Given the description of an element on the screen output the (x, y) to click on. 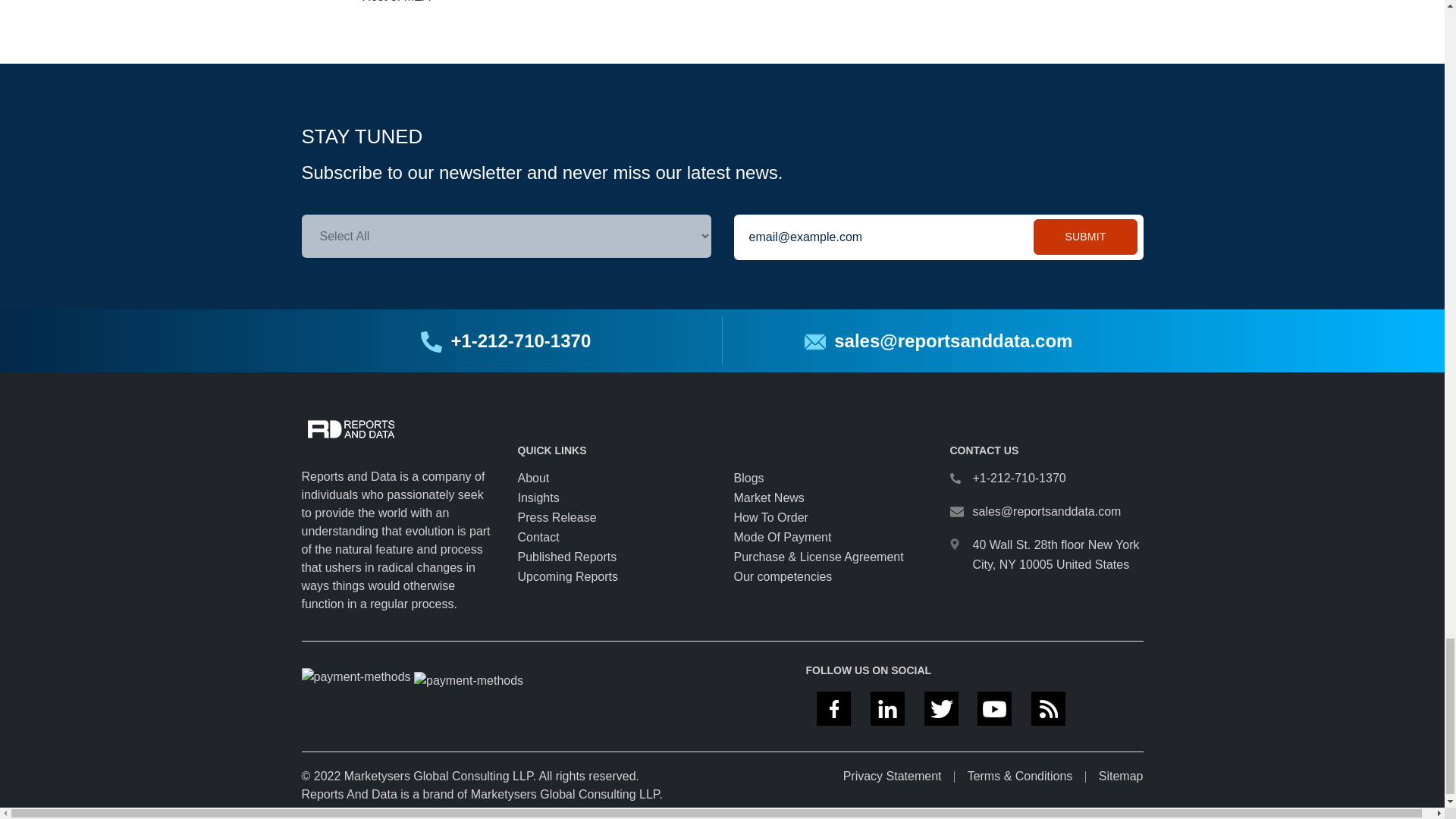
Submit (1085, 236)
